Given the description of an element on the screen output the (x, y) to click on. 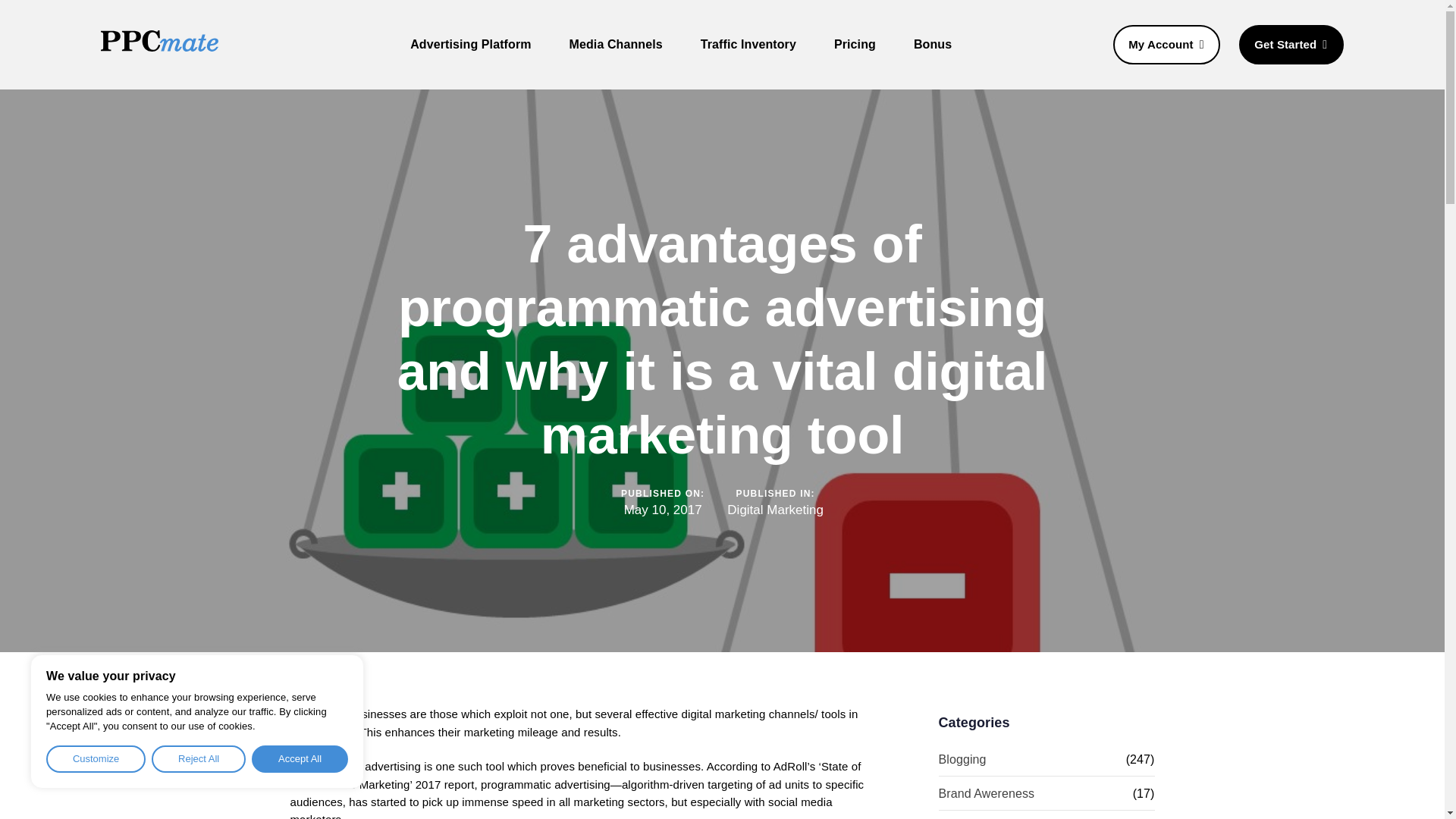
Advertising Platform (470, 44)
Reject All (198, 759)
May 10, 2017 (662, 510)
My Account (1166, 45)
Get Started (1291, 45)
Media Channels (615, 44)
Customize (95, 759)
Accept All (299, 759)
Digital Marketing (775, 510)
Traffic Inventory (748, 44)
